Given the description of an element on the screen output the (x, y) to click on. 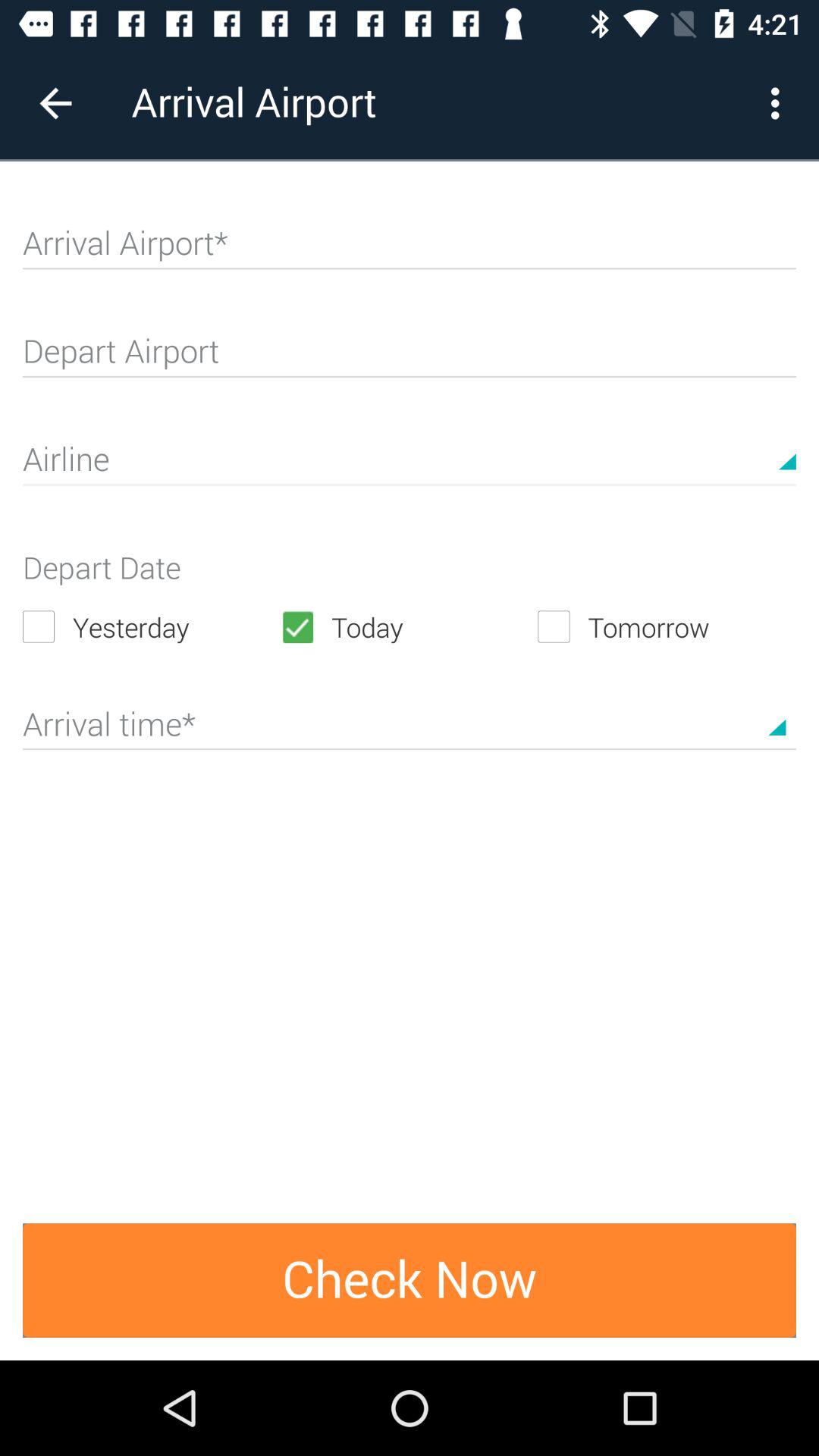
press item to the left of the tomorrow (409, 626)
